Given the description of an element on the screen output the (x, y) to click on. 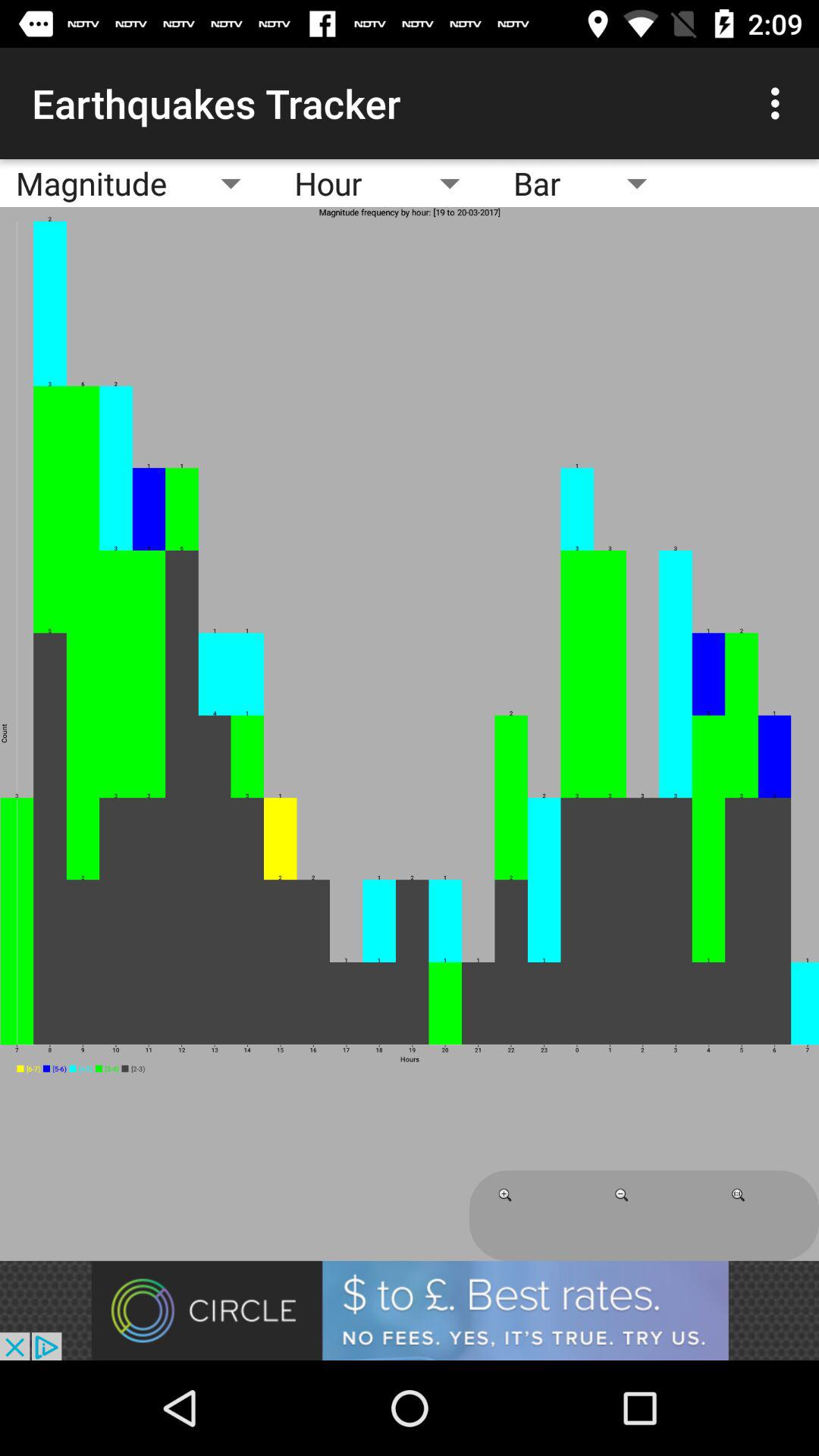
open advertisement (409, 1310)
